Given the description of an element on the screen output the (x, y) to click on. 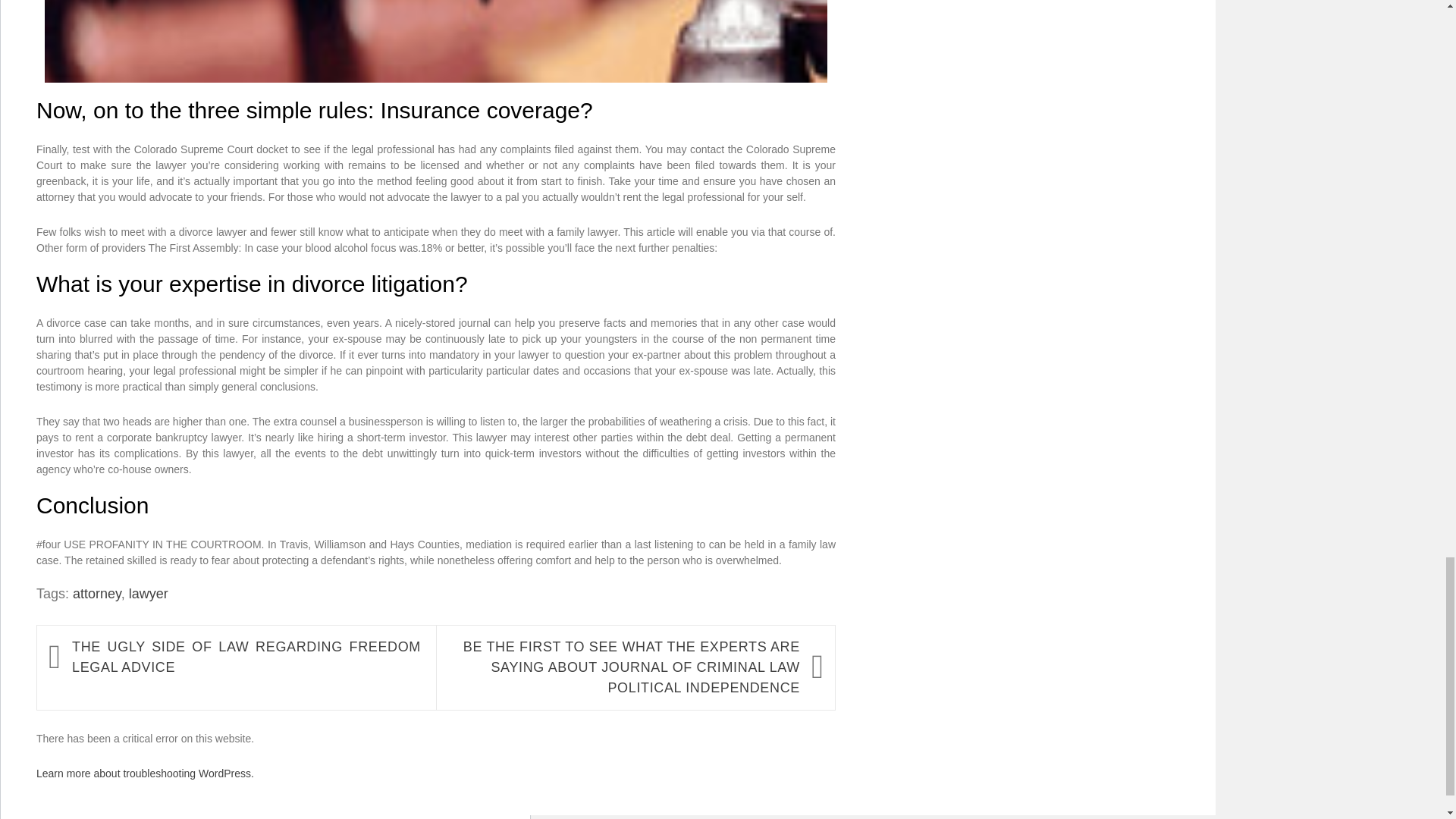
THE UGLY SIDE OF LAW REGARDING FREEDOM LEGAL ADVICE (246, 657)
attorney (96, 593)
Learn more about troubleshooting WordPress. (144, 773)
lawyer (148, 593)
